Given the description of an element on the screen output the (x, y) to click on. 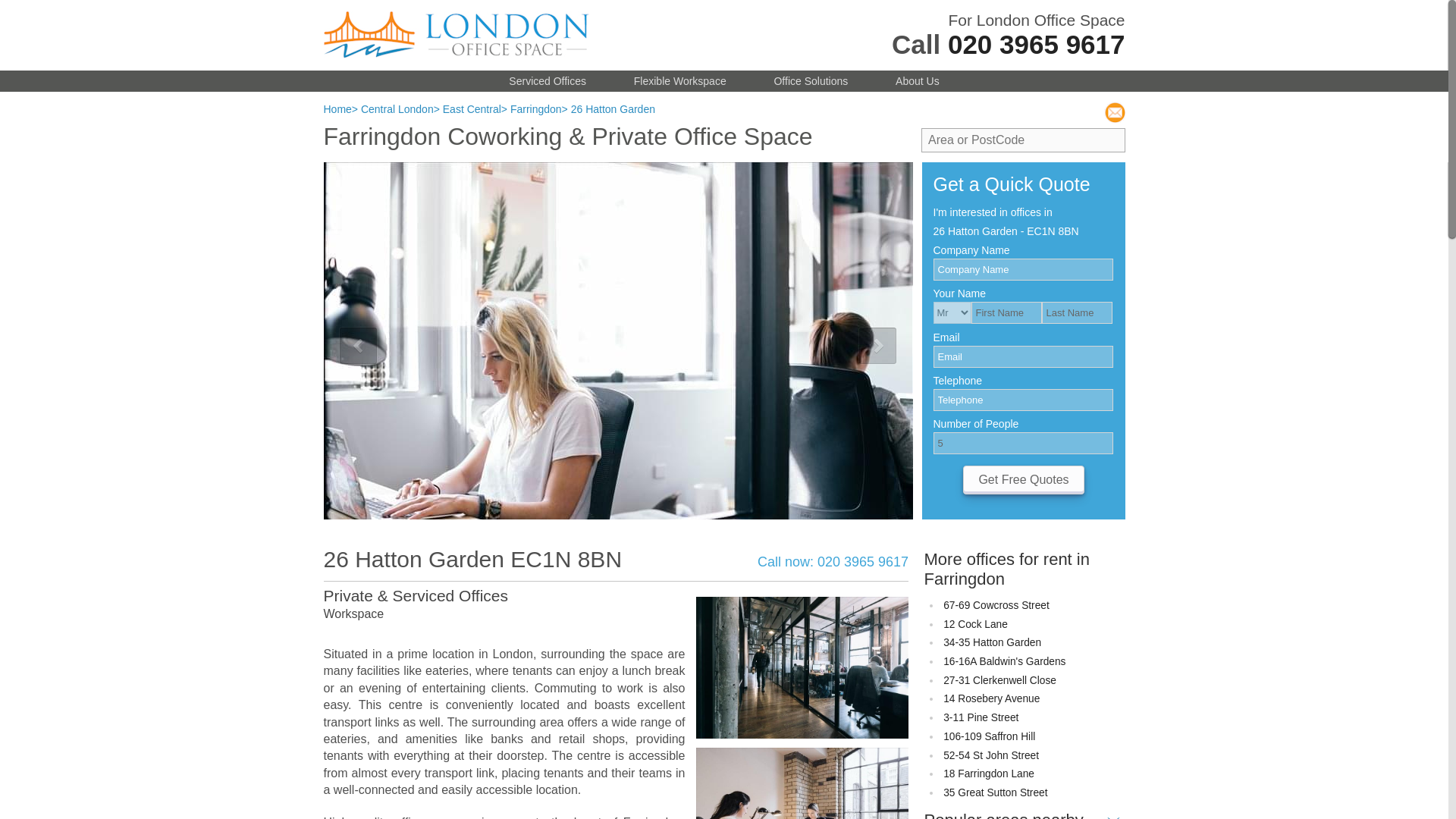
35 Great Sutton Street (994, 792)
Flexible Workspace (679, 80)
14 Rosebery Avenue (991, 698)
Central London (397, 109)
3-11 Pine Street (980, 717)
18 Farringdon Lane (988, 773)
East Central (471, 109)
020 3965 9617 (1036, 43)
About Us (917, 80)
Home (336, 109)
16-16A Baldwin's Gardens (1004, 661)
5 (1022, 443)
52-54 St John Street (991, 754)
27-31 Clerkenwell Close (1000, 680)
34-35 Hatton Garden (992, 642)
